Given the description of an element on the screen output the (x, y) to click on. 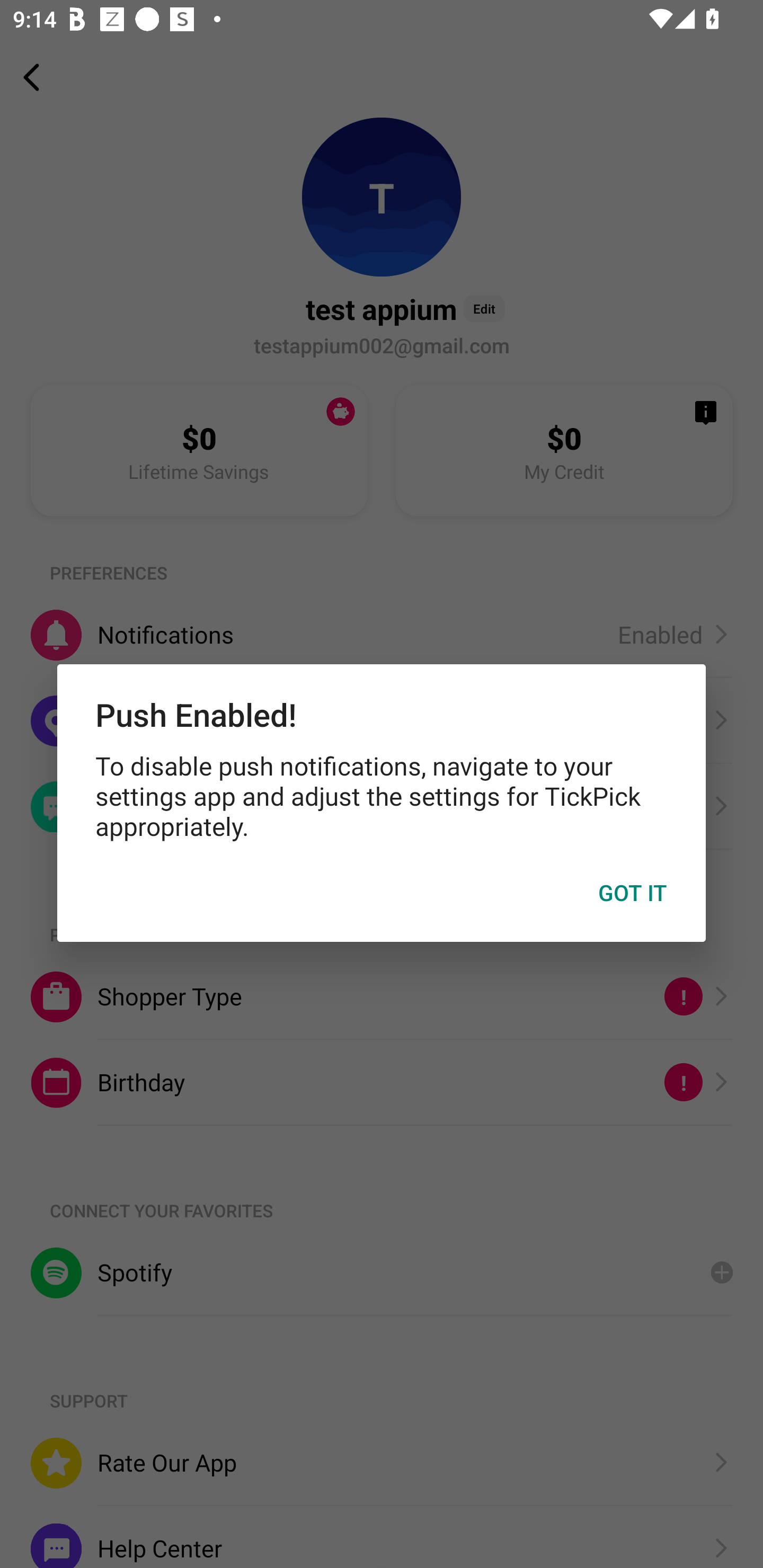
GOT IT (632, 892)
